Given the description of an element on the screen output the (x, y) to click on. 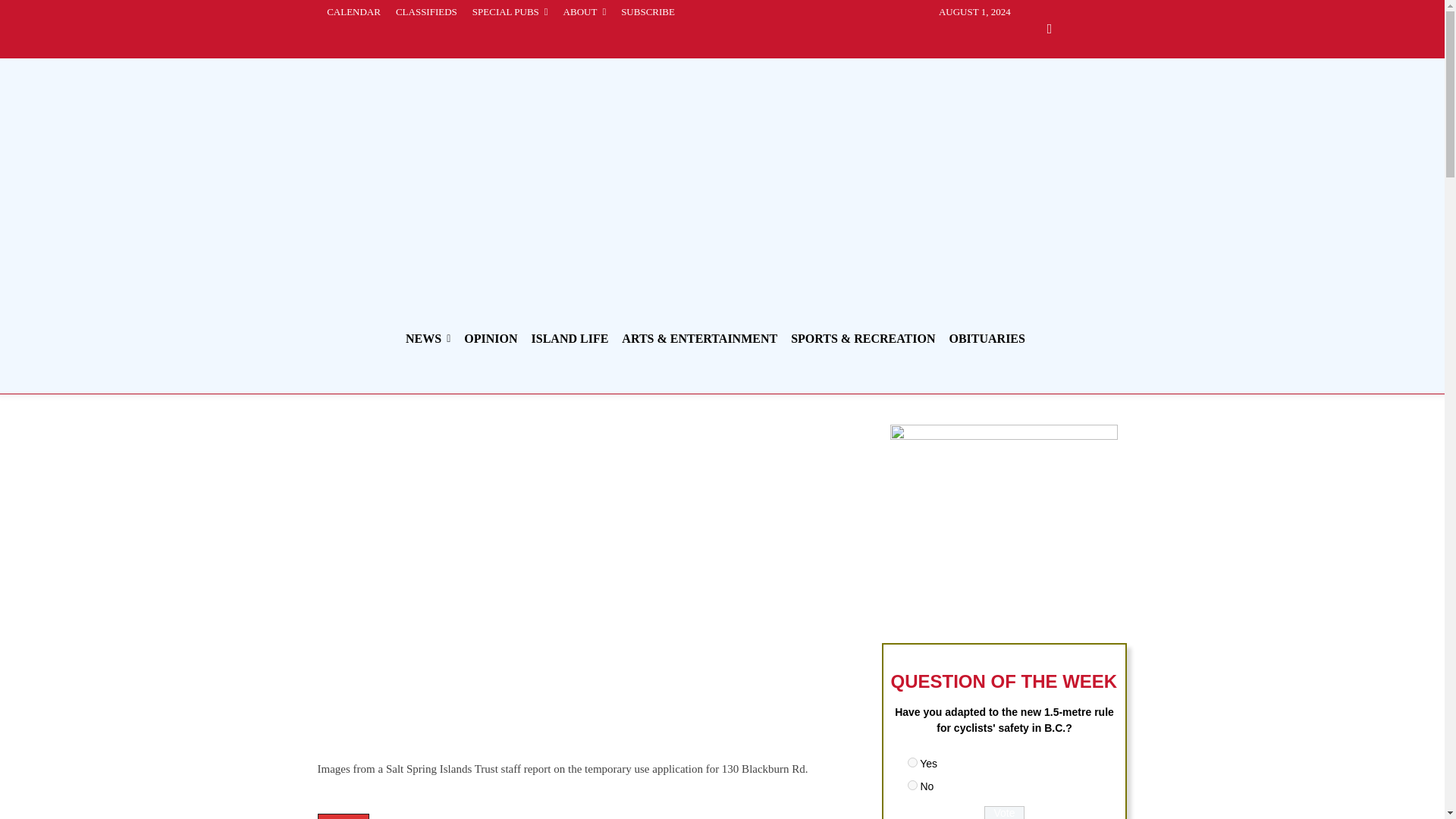
56 (912, 762)
CALENDAR (353, 11)
   Vote    (1004, 812)
CLASSIFIEDS (426, 11)
SPECIAL PUBS (510, 11)
57 (912, 785)
